Given the description of an element on the screen output the (x, y) to click on. 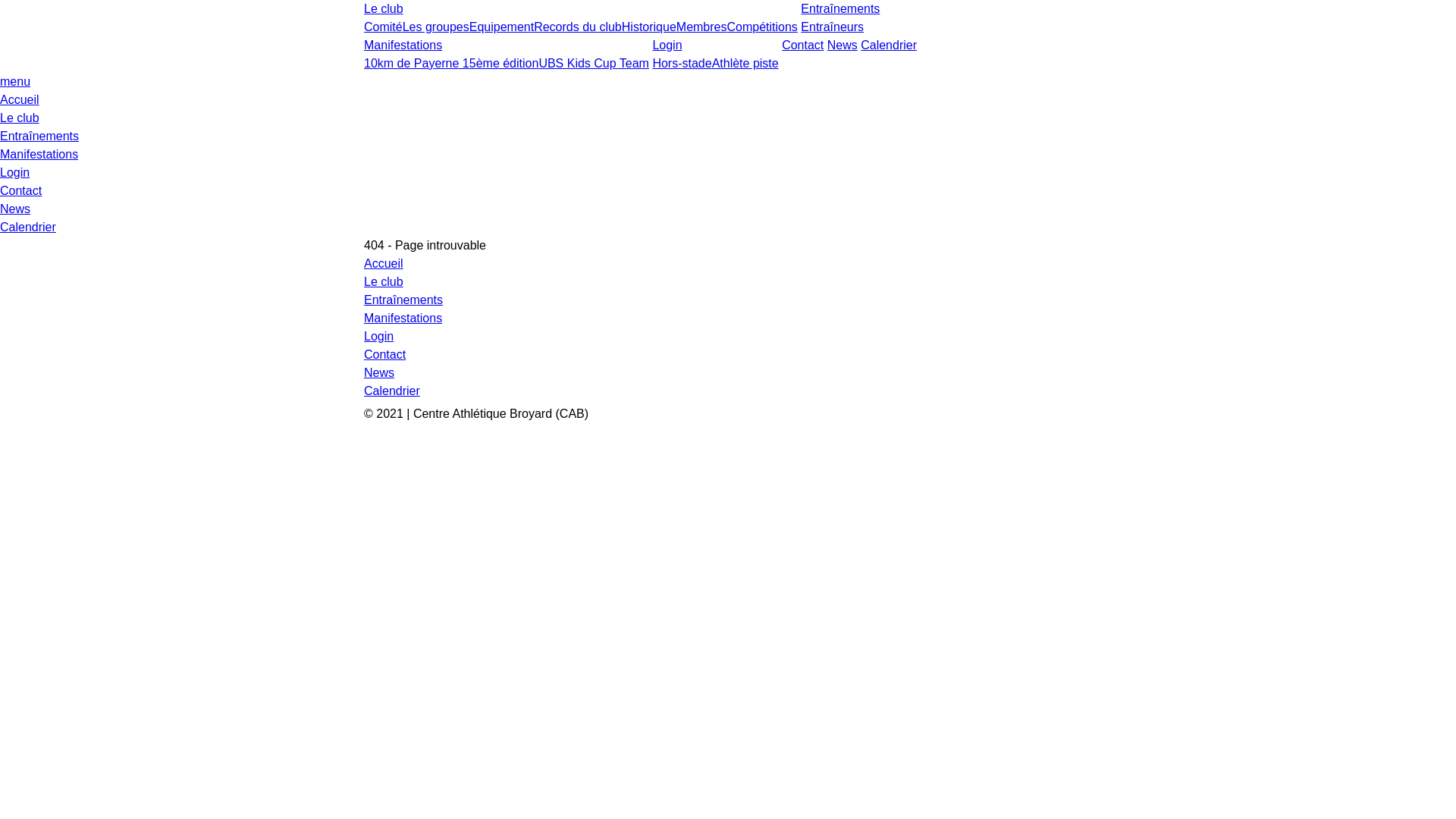
Login Element type: text (666, 44)
Les groupes Element type: text (435, 26)
Accueil Element type: text (383, 263)
Records du club Element type: text (577, 26)
News Element type: text (842, 44)
Manifestations Element type: text (403, 44)
Le club Element type: text (383, 8)
Le club Element type: text (19, 117)
Manifestations Element type: text (39, 153)
Contact Element type: text (384, 354)
Historique Element type: text (648, 26)
Accueil Element type: text (19, 99)
Login Element type: text (14, 172)
Manifestations Element type: text (403, 317)
menu Element type: text (15, 81)
Contact Element type: text (802, 44)
Calendrier Element type: text (392, 390)
News Element type: text (379, 372)
Equipement Element type: text (501, 26)
UBS Kids Cup Team Element type: text (593, 62)
Calendrier Element type: text (28, 226)
Le club Element type: text (383, 281)
Contact Element type: text (20, 190)
News Element type: text (15, 208)
Membres Element type: text (701, 26)
Hors-stade Element type: text (681, 62)
Calendrier Element type: text (888, 44)
Login Element type: text (378, 335)
